Given the description of an element on the screen output the (x, y) to click on. 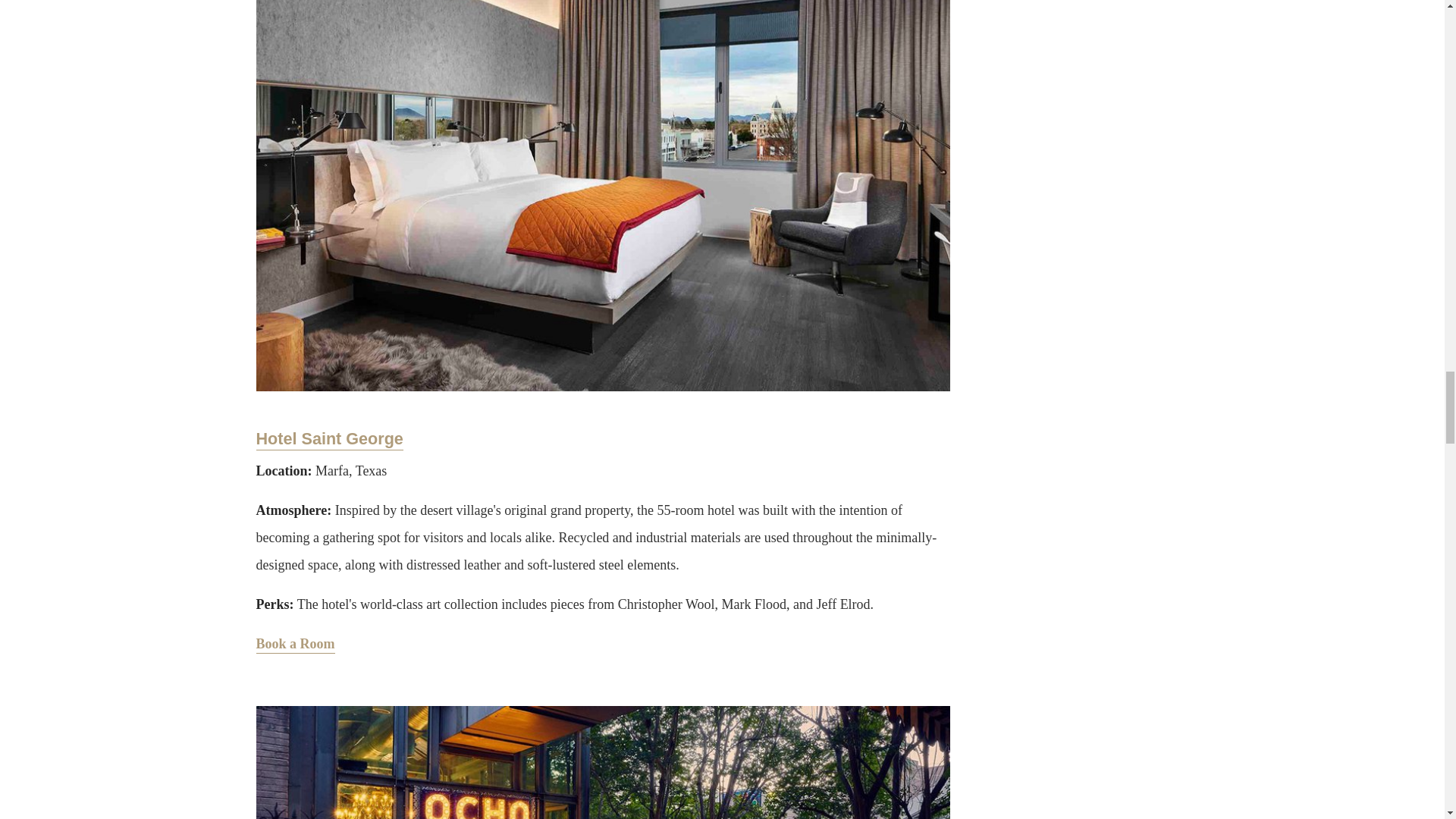
Hotel Saint George (329, 439)
Book Hotel Saint George (295, 644)
Hotel Saint George (329, 439)
Book a Room (295, 644)
